Given the description of an element on the screen output the (x, y) to click on. 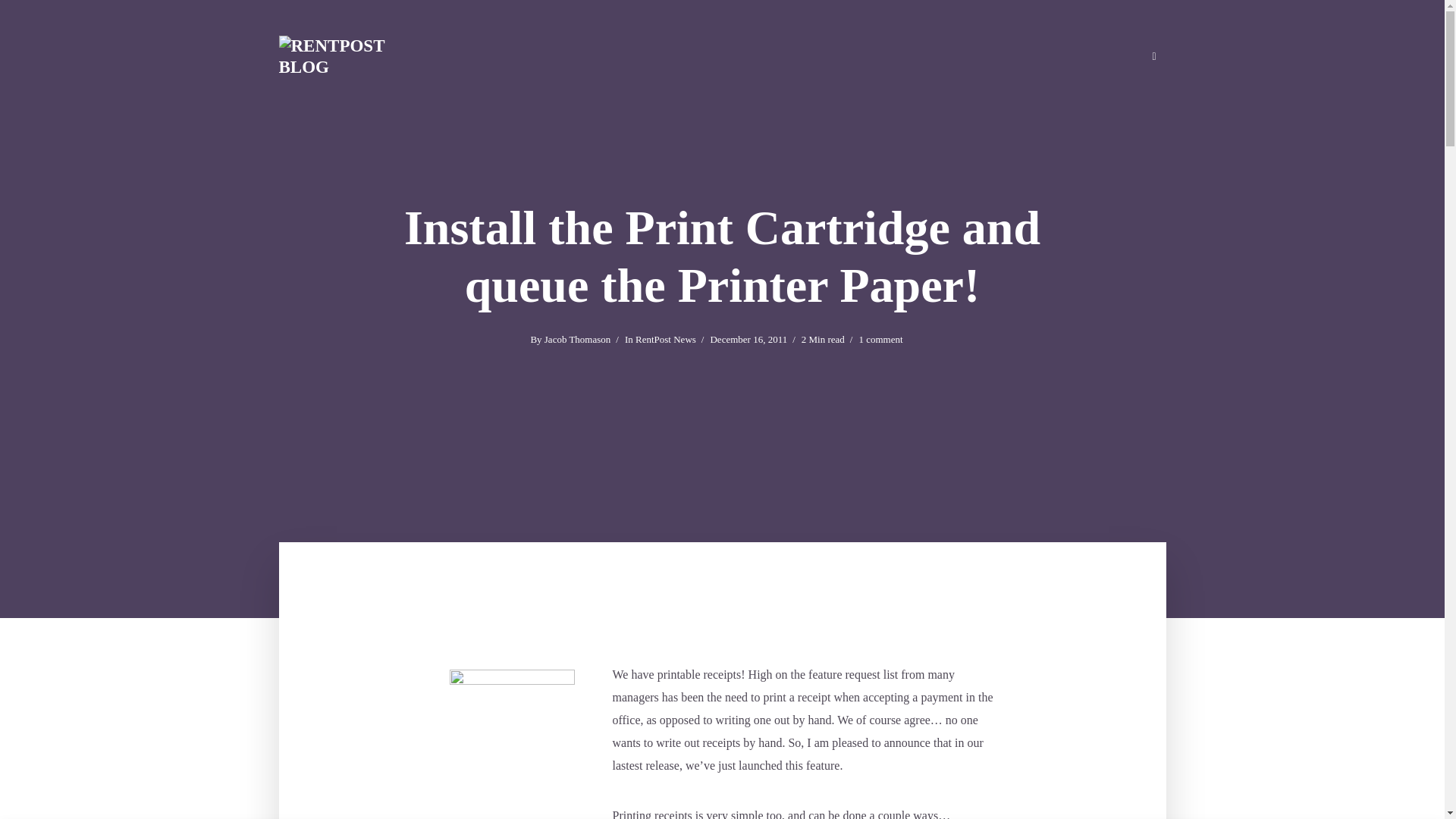
Jacob Thomason (577, 340)
RentPost News (664, 340)
1 comment (880, 340)
